Given the description of an element on the screen output the (x, y) to click on. 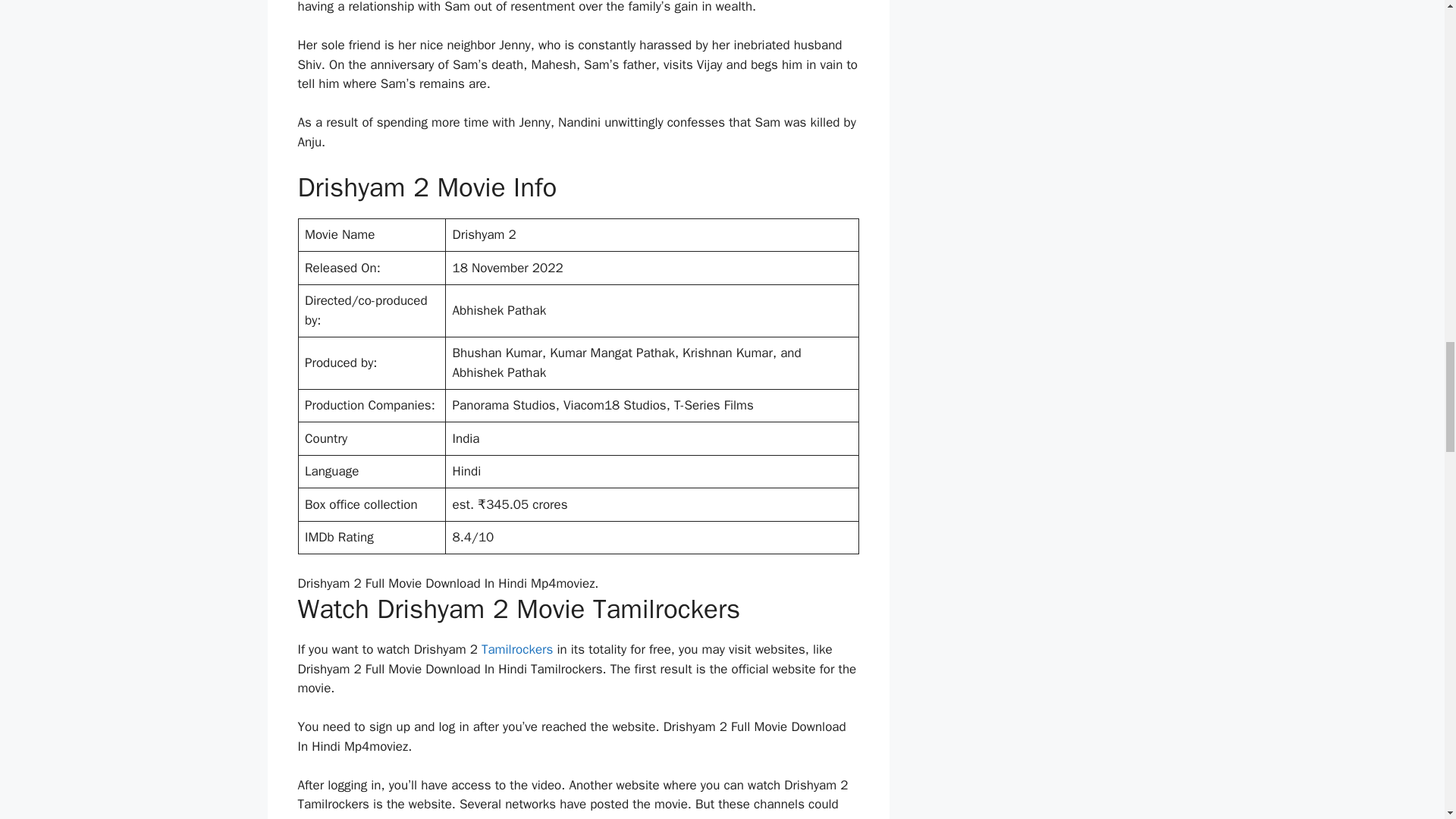
Tamilrockers (517, 649)
